Given the description of an element on the screen output the (x, y) to click on. 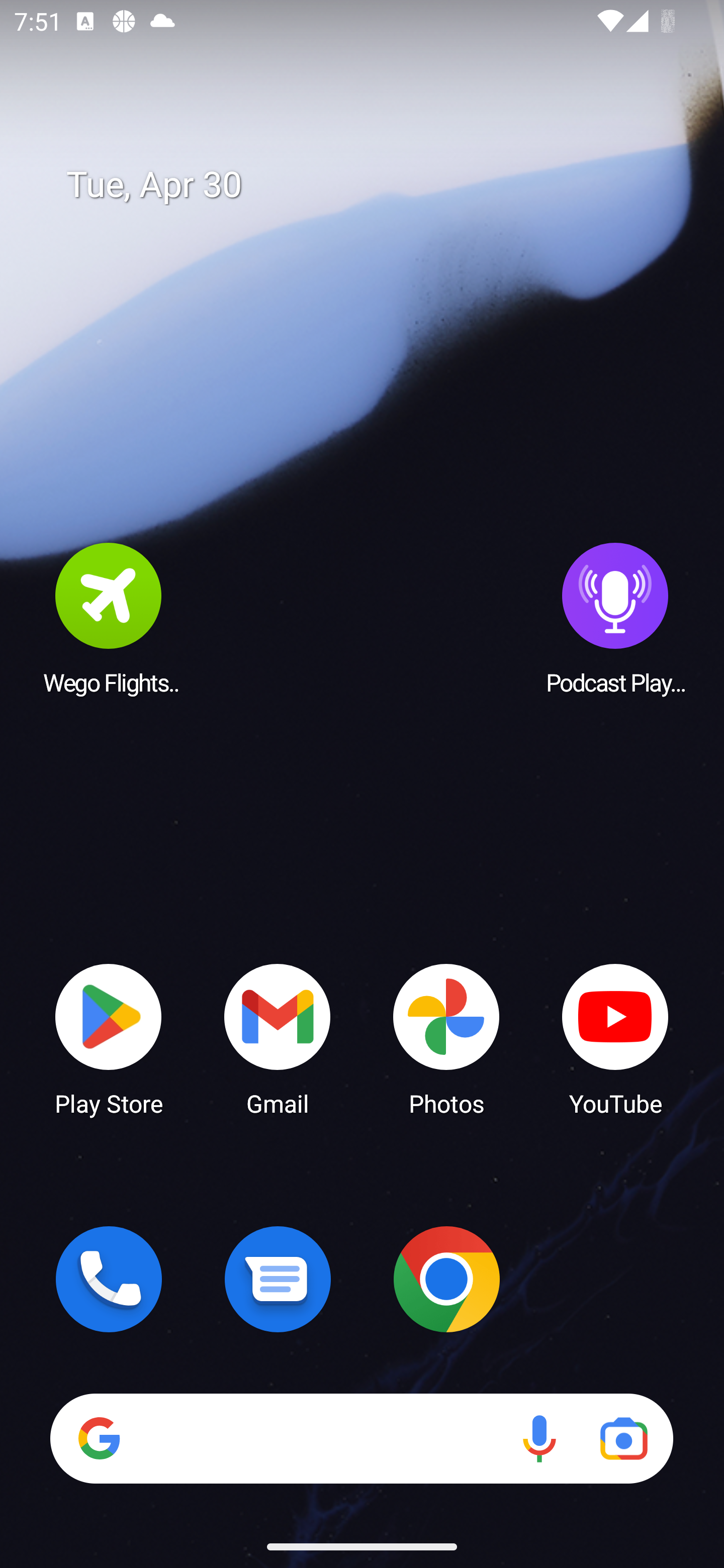
Tue, Apr 30 (375, 184)
Wego Flights & Hotels (108, 617)
Podcast Player (615, 617)
Play Store (108, 1038)
Gmail (277, 1038)
Photos (445, 1038)
YouTube (615, 1038)
Phone (108, 1279)
Messages (277, 1279)
Chrome (446, 1279)
Voice search (539, 1438)
Google Lens (623, 1438)
